Given the description of an element on the screen output the (x, y) to click on. 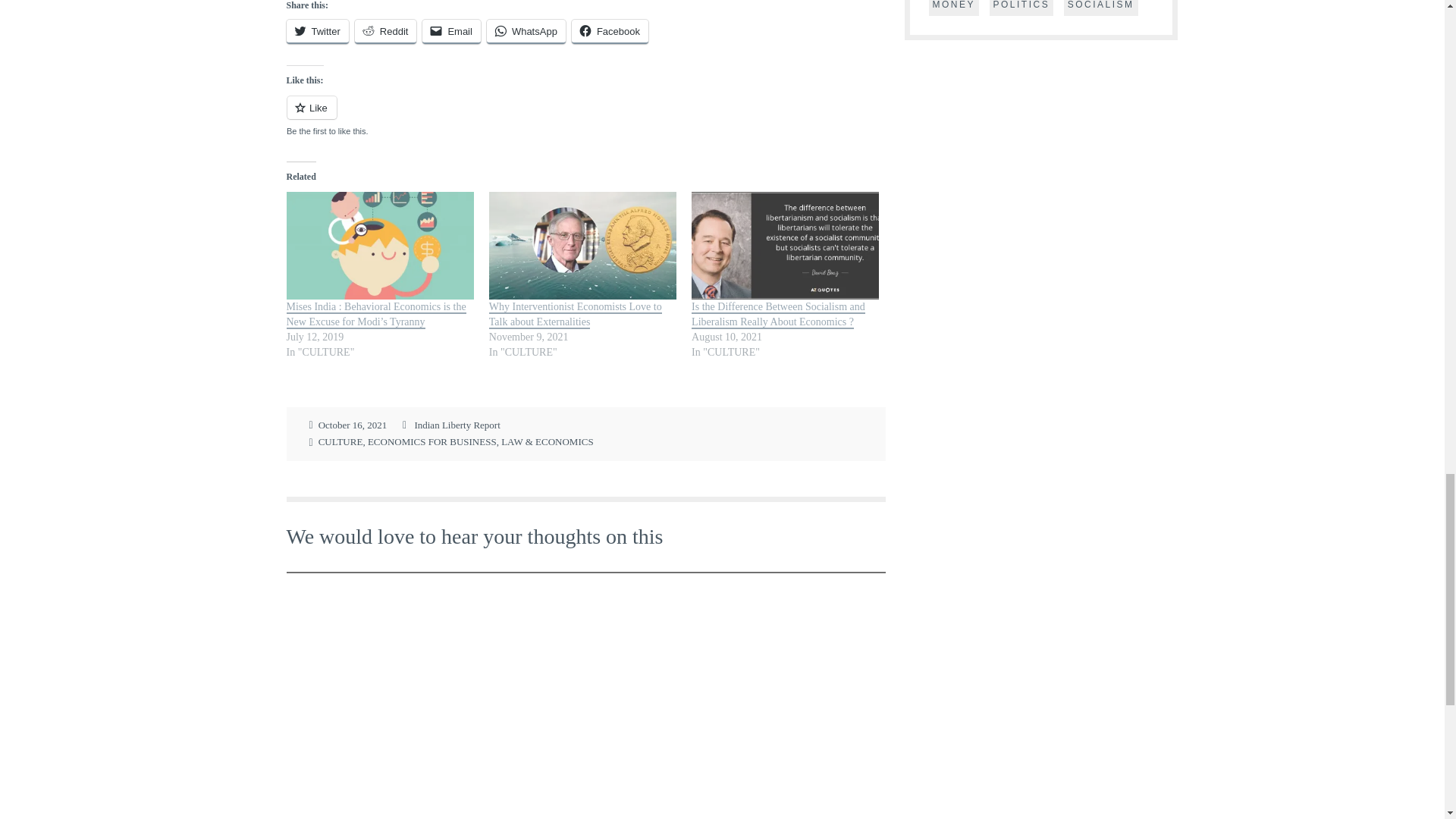
Click to share on WhatsApp (526, 31)
Click to email a link to a friend (451, 31)
Click to share on Twitter (317, 31)
Reddit (385, 31)
Click to share on Facebook (609, 31)
